Given the description of an element on the screen output the (x, y) to click on. 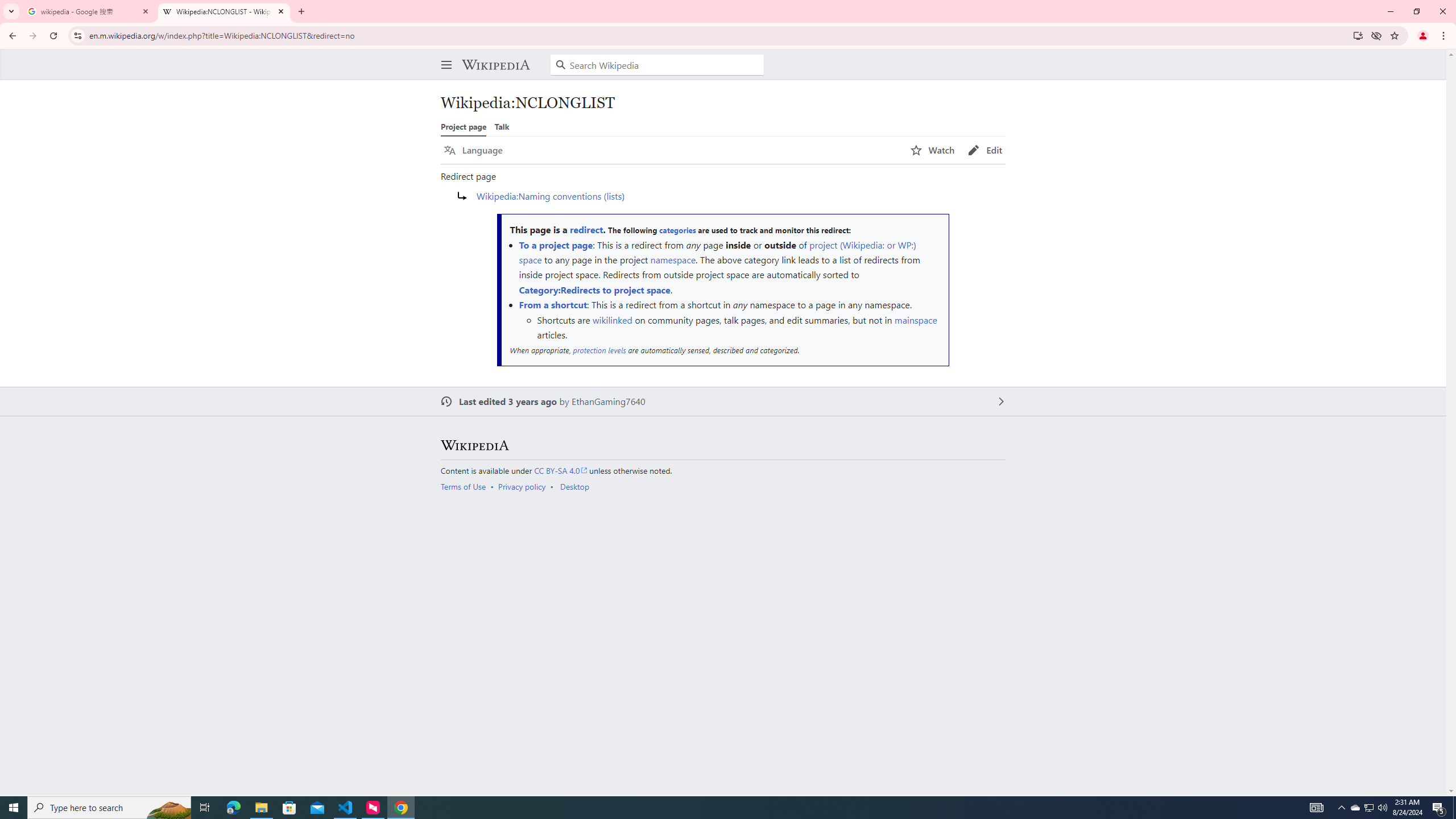
wikilinked (611, 319)
AutomationID: footer-places-privacy (525, 487)
Talk (501, 126)
AutomationID: page-actions-watch (932, 150)
To a project page (555, 244)
AutomationID: footer-places-desktop-toggle (576, 487)
